Given the description of an element on the screen output the (x, y) to click on. 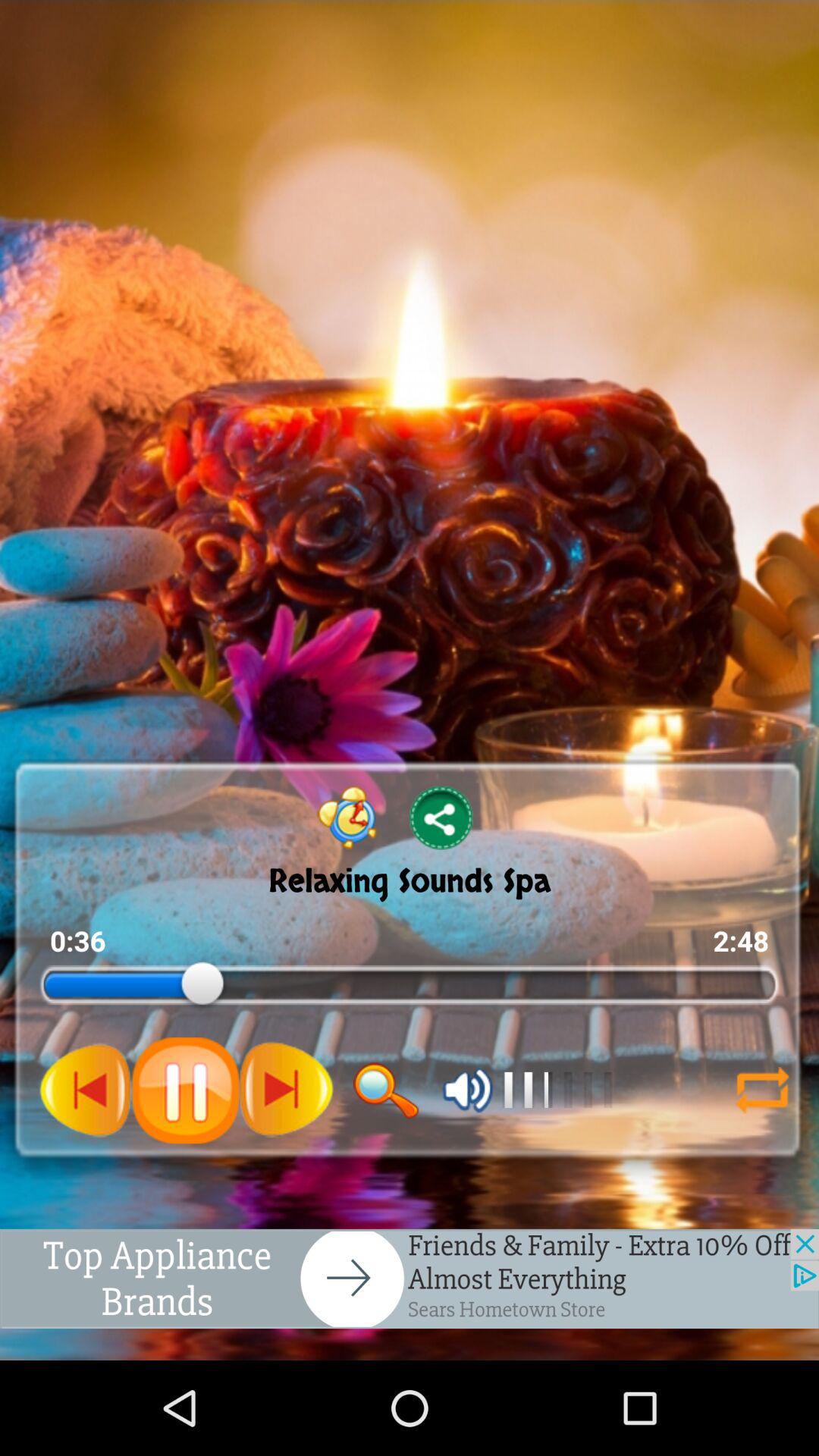
toggle pause (185, 1090)
